Given the description of an element on the screen output the (x, y) to click on. 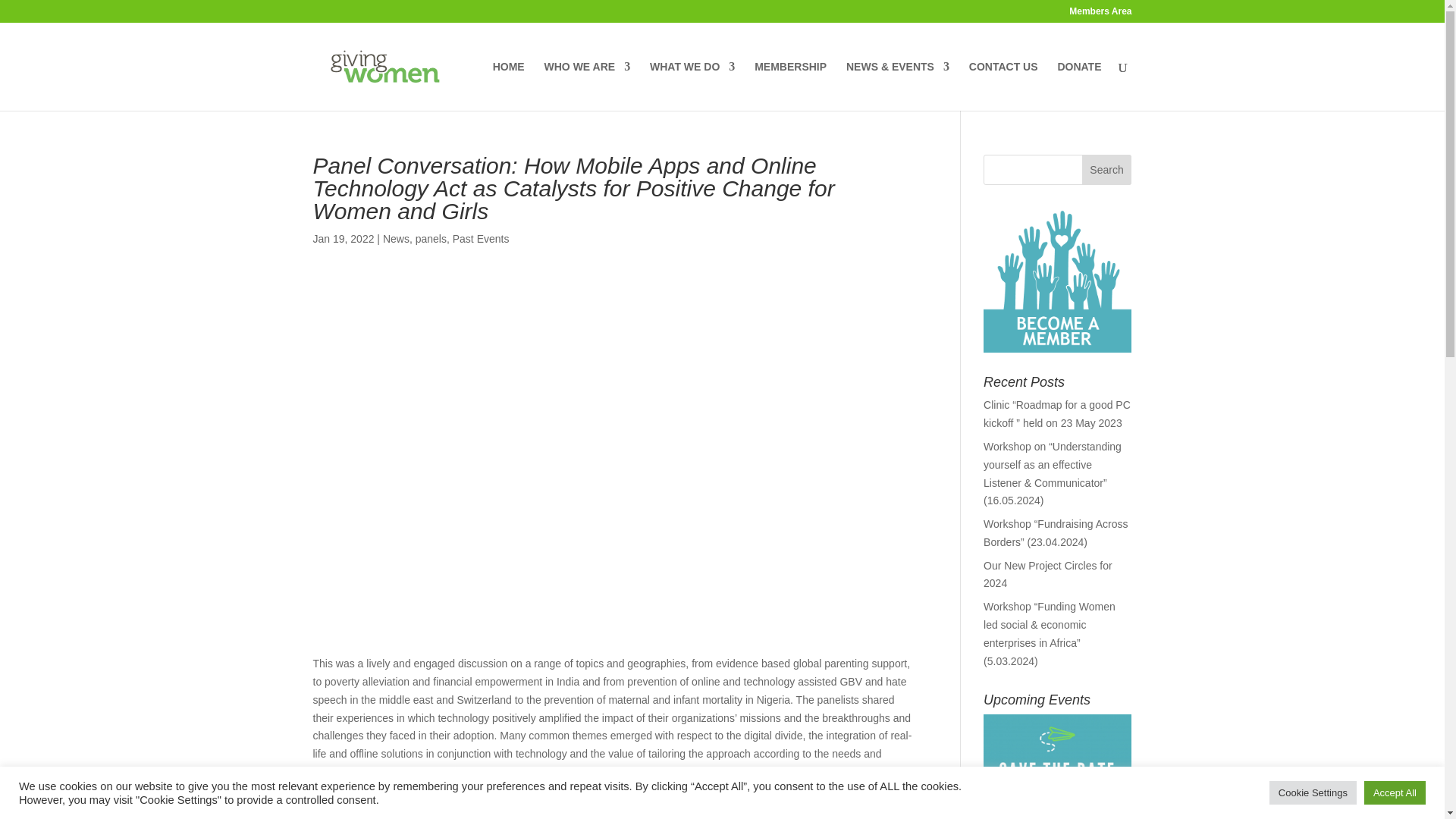
WHAT WE DO (692, 85)
MEMBERSHIP (790, 85)
Members Area (1099, 14)
HOME (508, 85)
DONATE (1078, 85)
CONTACT US (1003, 85)
WHO WE ARE (587, 85)
Search (1106, 169)
